Given the description of an element on the screen output the (x, y) to click on. 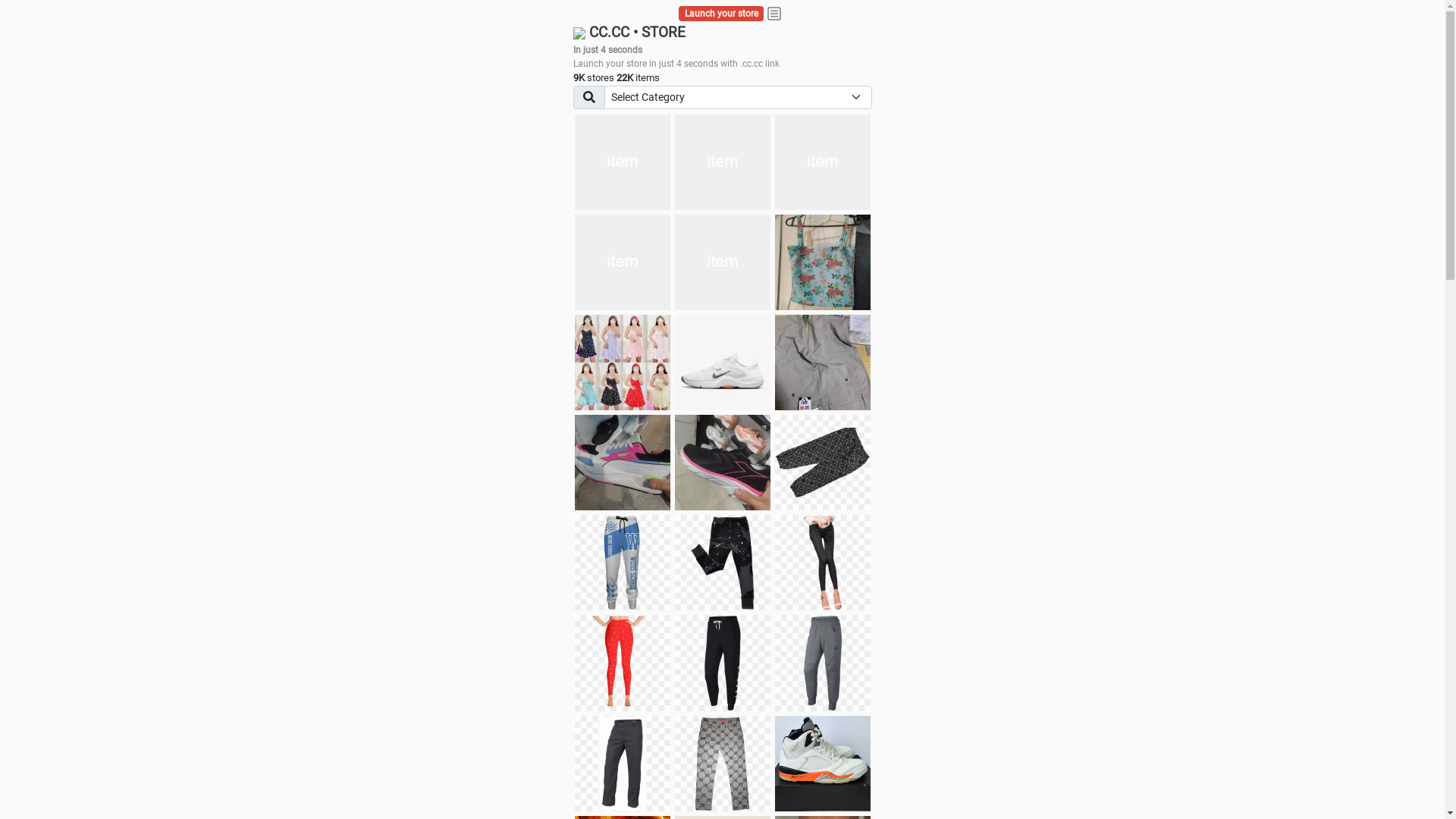
Launch your store Element type: text (721, 13)
Pant Element type: hover (822, 662)
Pant Element type: hover (722, 662)
jacket Element type: hover (622, 162)
Pant Element type: hover (622, 763)
Short pant Element type: hover (822, 462)
Pant Element type: hover (722, 562)
Pant Element type: hover (722, 763)
Zapatillas pumas Element type: hover (622, 462)
Shoes Element type: hover (722, 362)
Things we need Element type: hover (722, 262)
Pant Element type: hover (622, 662)
Pant Element type: hover (822, 562)
Dress/square nect top Element type: hover (622, 362)
Pant Element type: hover (622, 562)
Zapatillas Element type: hover (722, 462)
Ukay cloth Element type: hover (822, 262)
Shoes for boys Element type: hover (622, 262)
white shoes Element type: hover (722, 162)
Shoe Element type: hover (822, 763)
shoes for boys Element type: hover (822, 162)
